Given the description of an element on the screen output the (x, y) to click on. 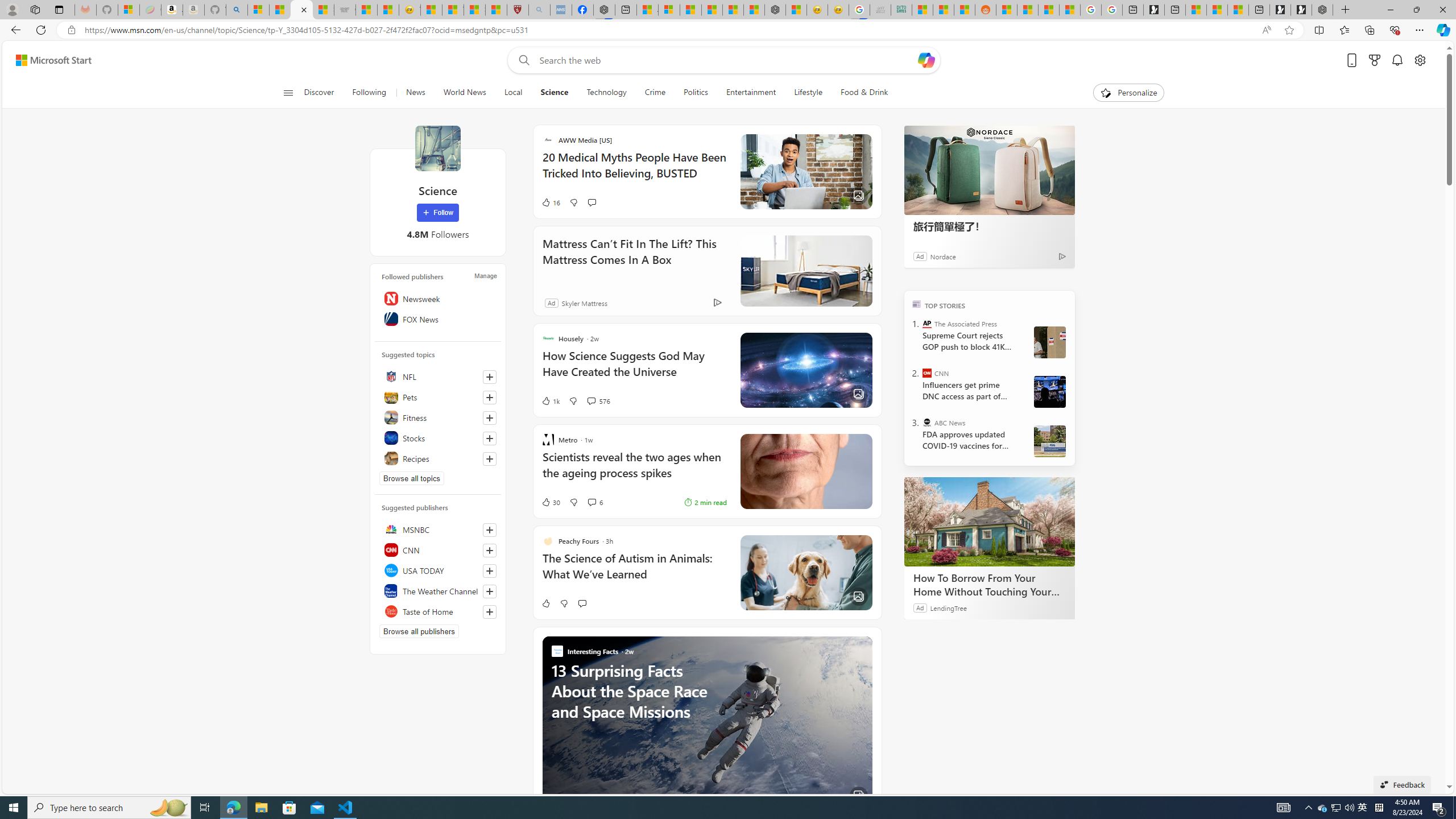
R******* | Trusted Community Engagement and Contributions (1006, 9)
View comments 6 Comment (591, 501)
